Given the description of an element on the screen output the (x, y) to click on. 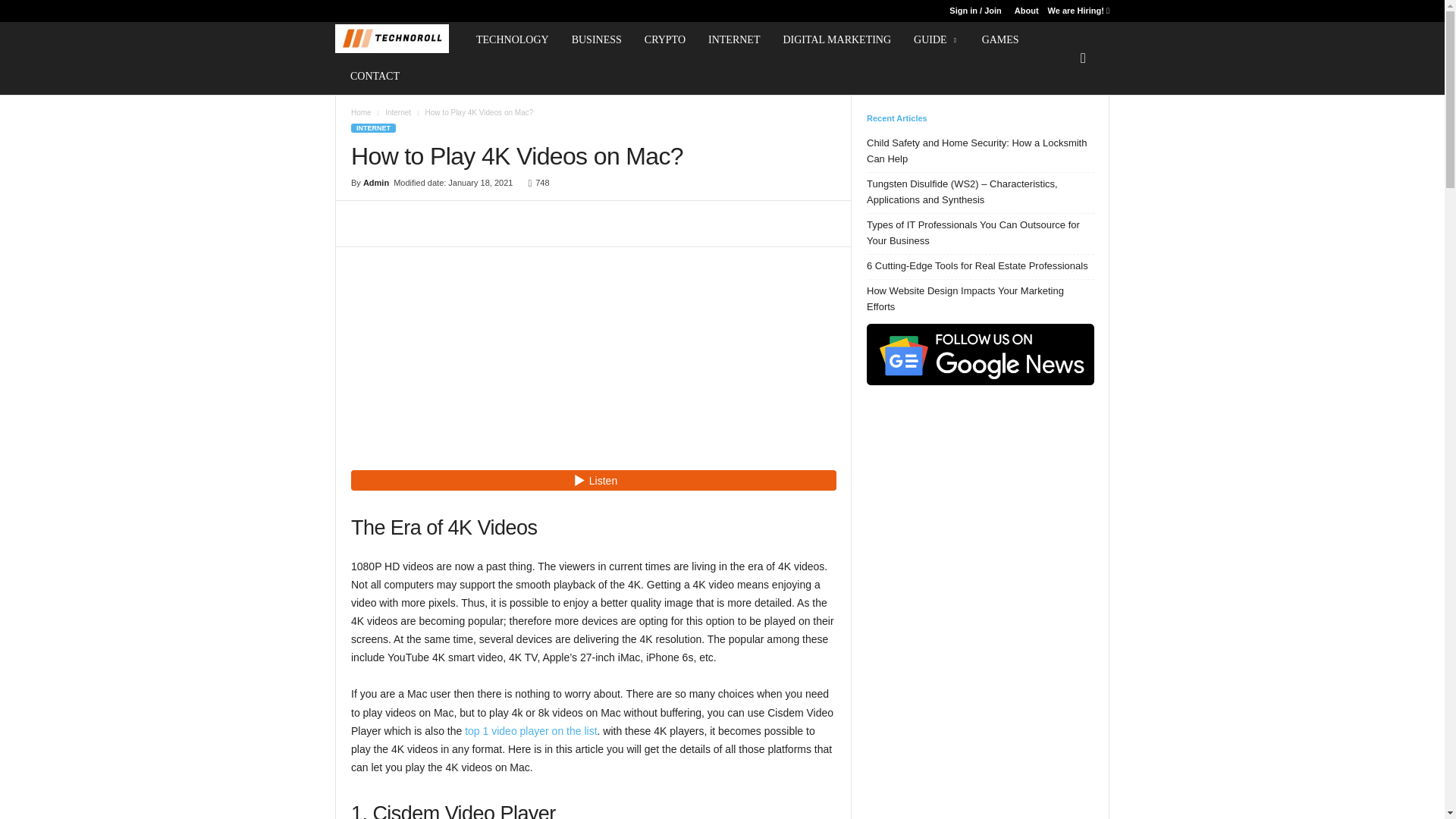
Technoroll (399, 39)
technoroll (391, 38)
CONTACT (374, 76)
DIGITAL MARKETING (836, 40)
View all posts in Internet (397, 112)
INTERNET (734, 40)
CRYPTO (665, 40)
Text To Audio: Tap to listen post. (592, 480)
GAMES (1000, 40)
About (1026, 10)
GUIDE (936, 40)
TECHNOLOGY (512, 40)
BUSINESS (596, 40)
